Given the description of an element on the screen output the (x, y) to click on. 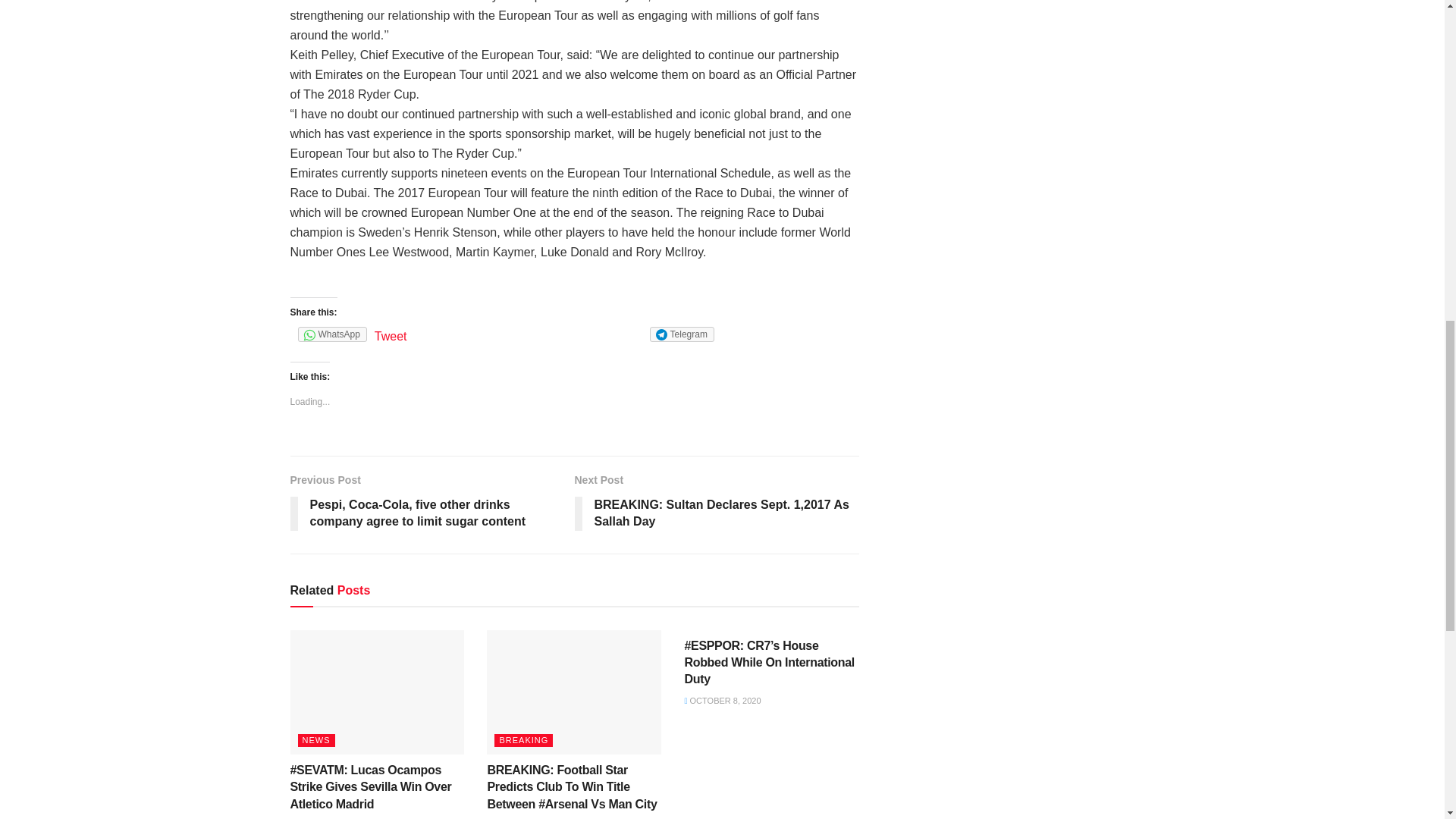
Click to share on Telegram (681, 334)
WhatsApp (331, 334)
Click to share on WhatsApp (331, 334)
